Given the description of an element on the screen output the (x, y) to click on. 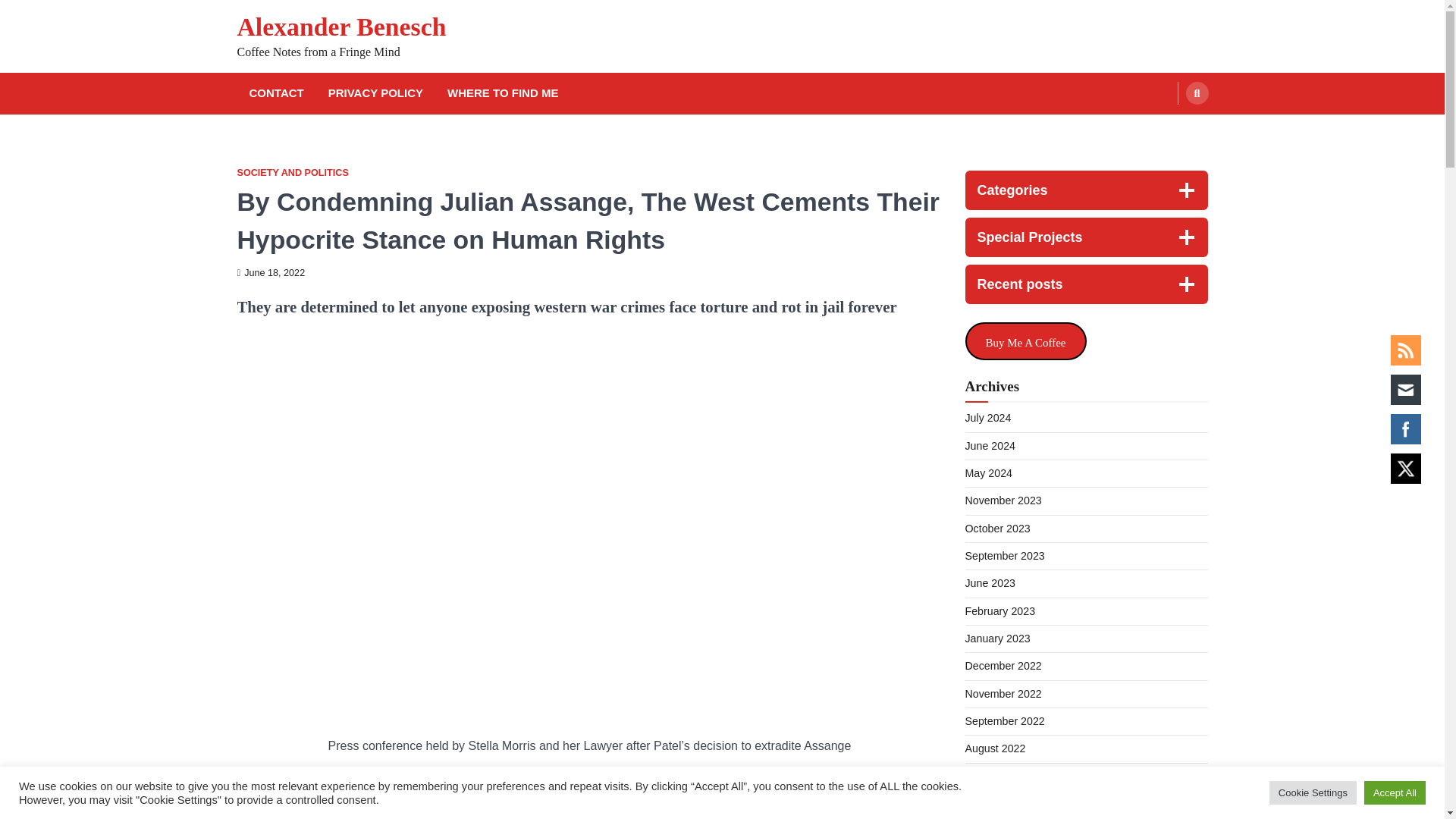
Follow by Email (1405, 389)
RSS (1405, 349)
June 18, 2022 (269, 272)
WHERE TO FIND ME (502, 93)
PRIVACY POLICY (375, 93)
Alexander Benesch (340, 26)
Search (1197, 92)
Facebook (1405, 429)
SOCIETY AND POLITICS (291, 173)
CONTACT (275, 93)
Tip the author (1024, 341)
Twitter (1405, 468)
Search (1168, 128)
Categories (1085, 189)
